Given the description of an element on the screen output the (x, y) to click on. 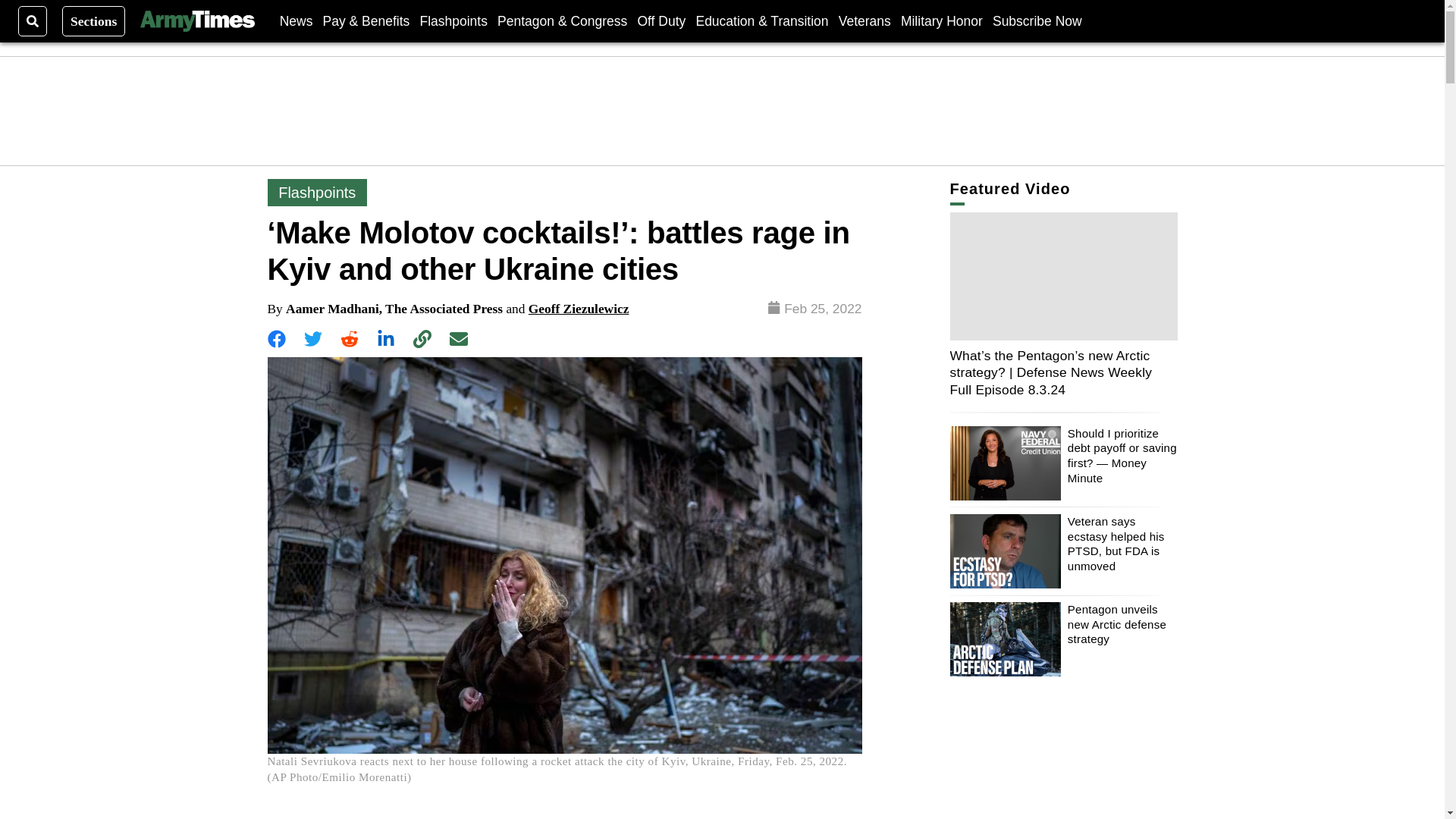
Off Duty (661, 20)
Veterans (864, 20)
Sections (93, 20)
Flashpoints (453, 20)
Military Honor (941, 20)
Army Times Logo (196, 20)
News (296, 20)
